Given the description of an element on the screen output the (x, y) to click on. 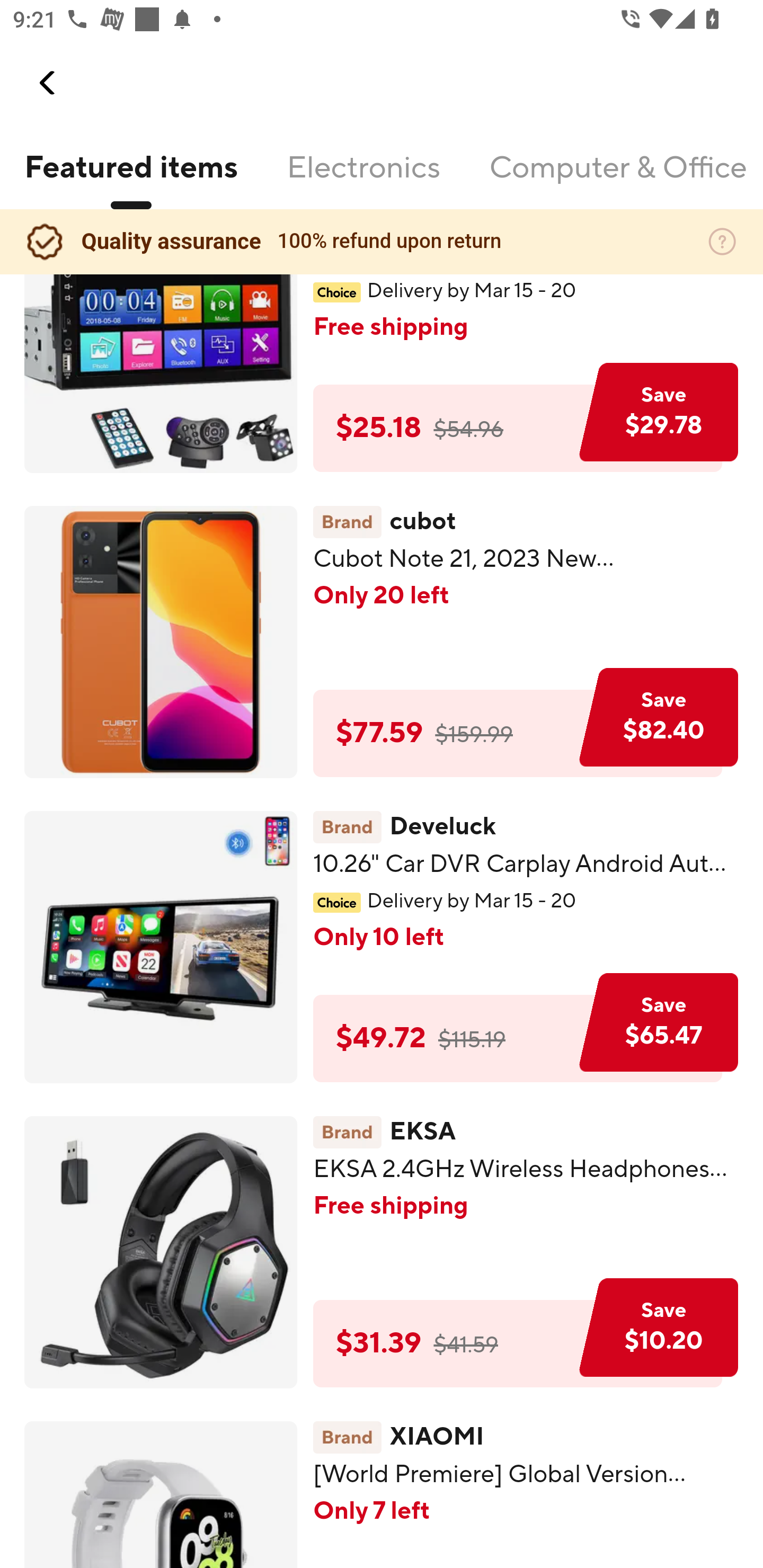
 (48, 82)
Featured items (130, 178)
Electronics (363, 178)
Computer & Office (617, 178)
